Given the description of an element on the screen output the (x, y) to click on. 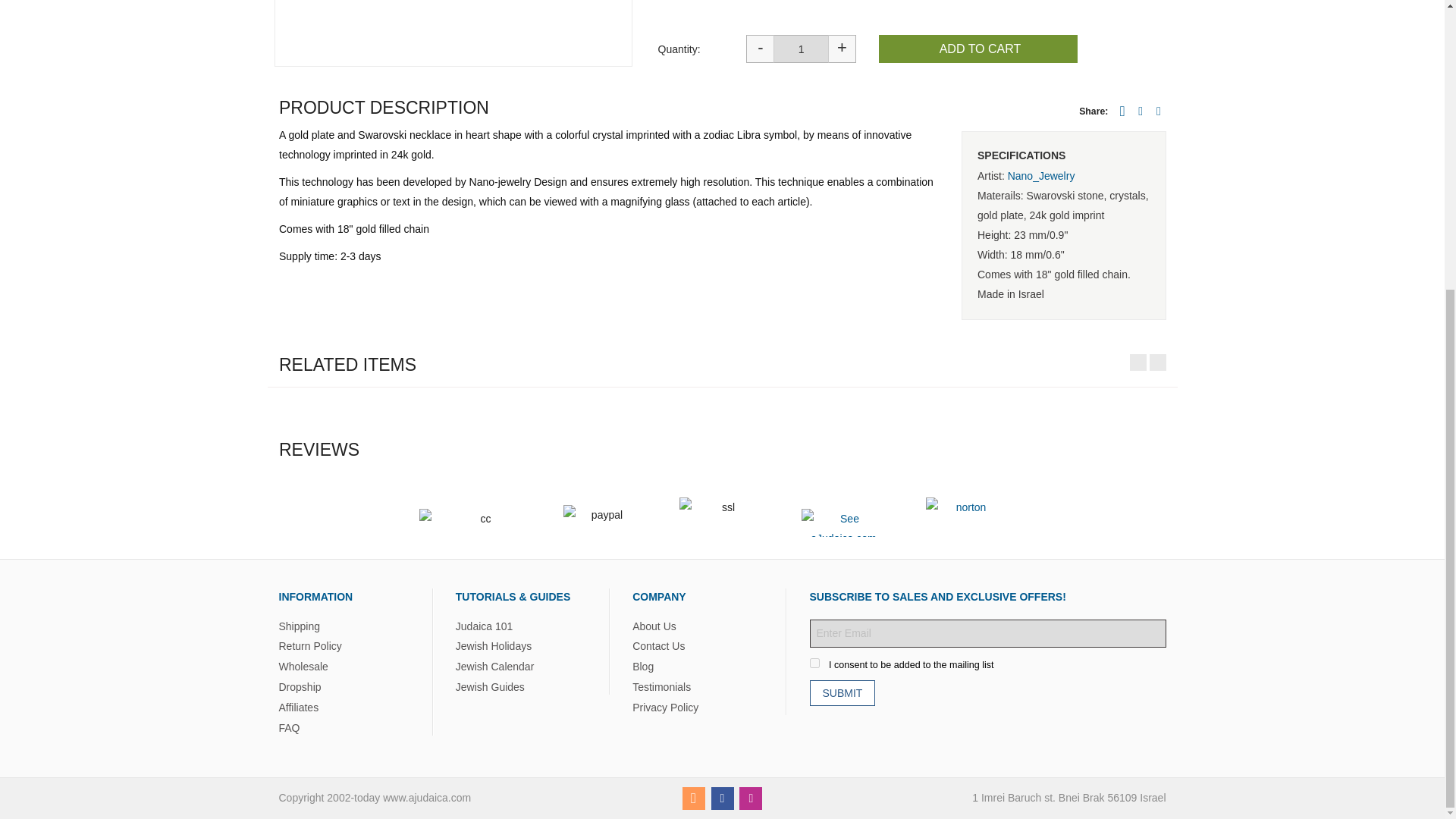
See aJudaica.com Reviews at Bizrate.com (842, 521)
on (814, 663)
1 (800, 49)
- (759, 49)
